Given the description of an element on the screen output the (x, y) to click on. 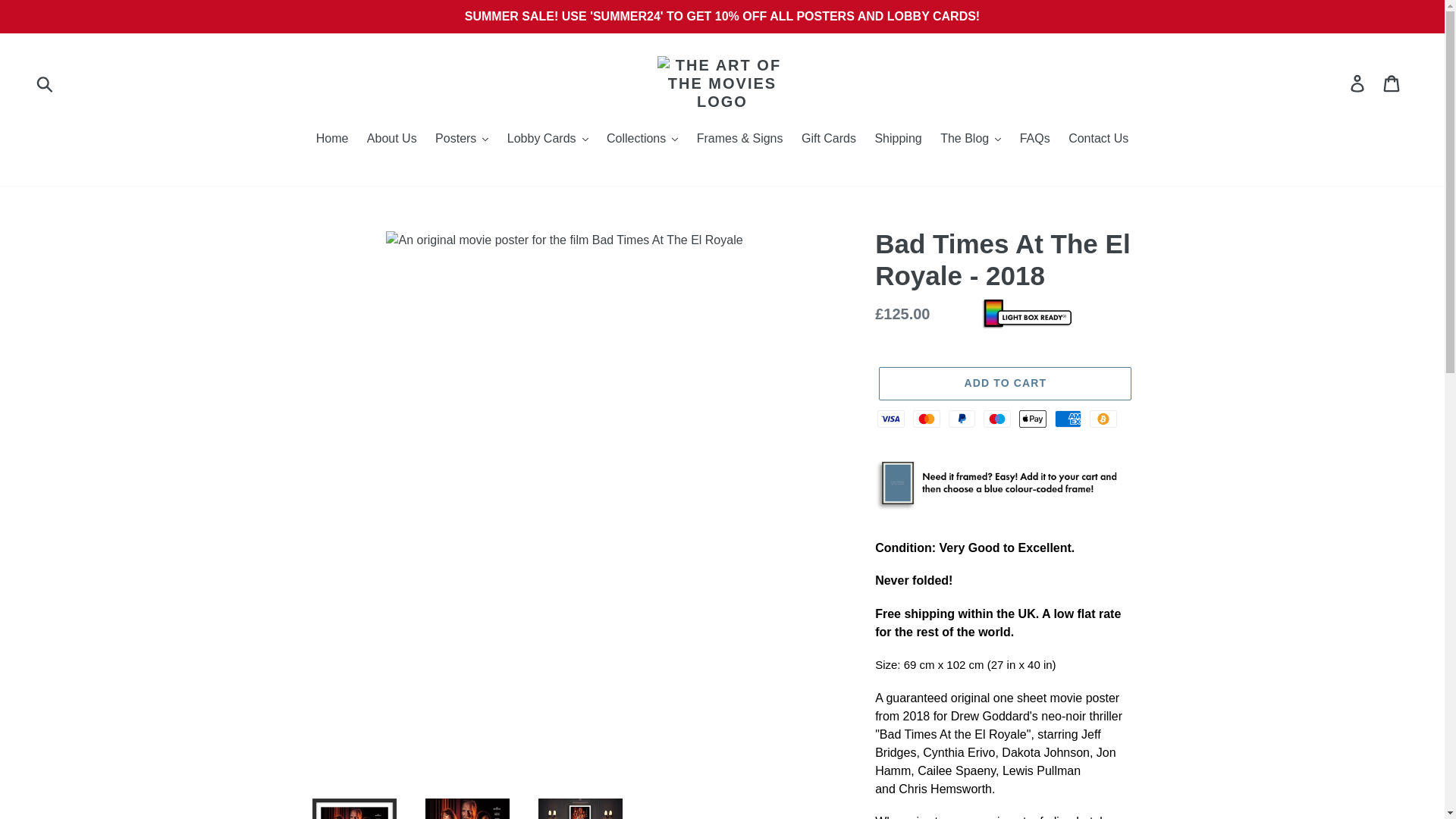
Log in (1357, 82)
Submit (45, 82)
Cart (1392, 82)
